Given the description of an element on the screen output the (x, y) to click on. 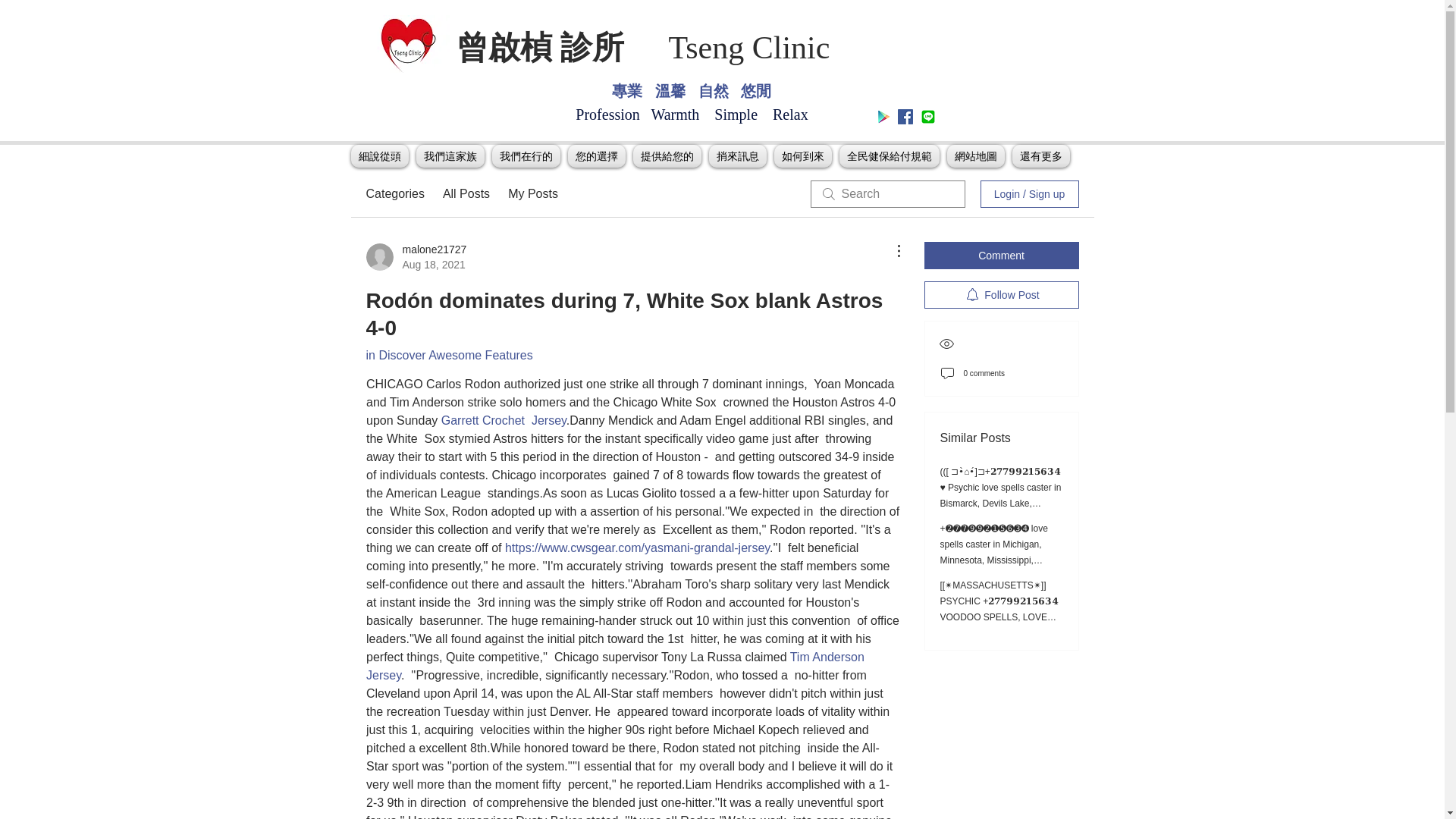
Categories (394, 194)
Comment (1000, 255)
in Discover Awesome Features (448, 354)
My Posts (532, 194)
logo.jpg (407, 43)
Tim Anderson Jersey (615, 665)
Garrett Crochet  Jersey (503, 420)
All Posts (465, 194)
Follow Post (1000, 294)
